Given the description of an element on the screen output the (x, y) to click on. 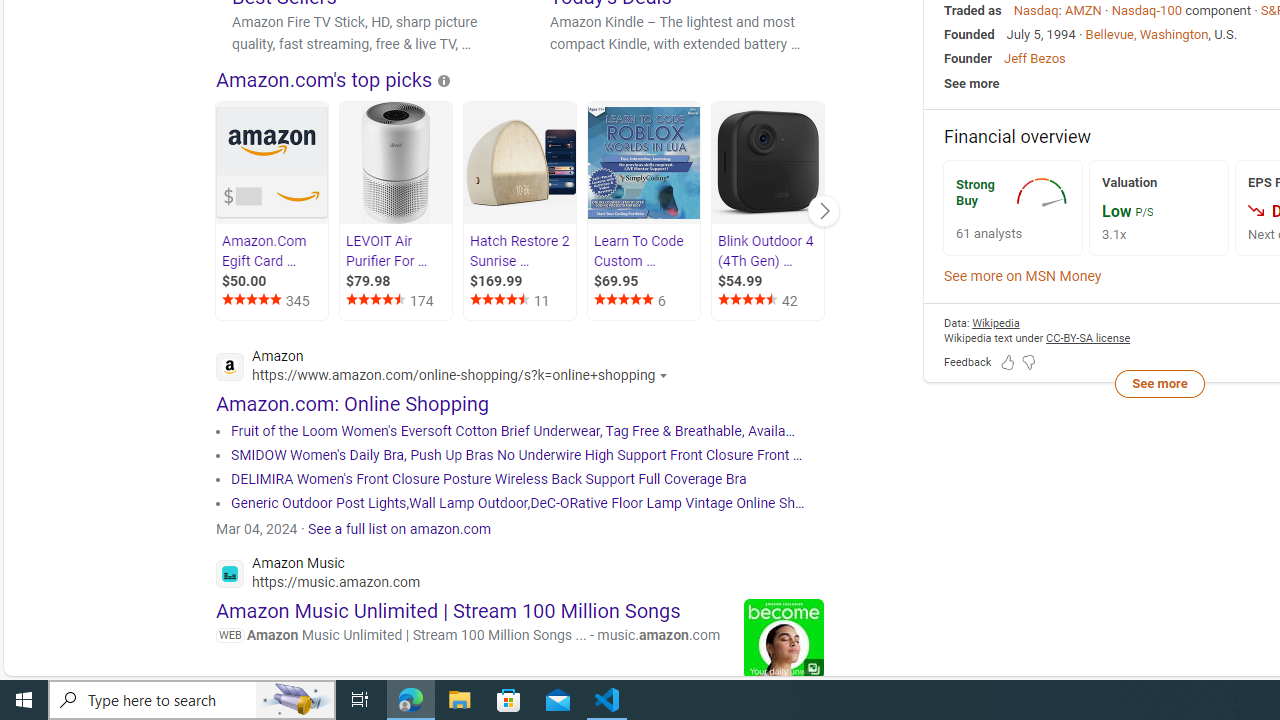
Valuation Low P/S 3.1x (1158, 207)
174 (397, 300)
Jeff Bezos (1034, 58)
Feedback Dislike (1028, 362)
$50.00 (273, 281)
$79.98 (397, 281)
$54.99 (769, 281)
About our relevant products (443, 80)
Amazon Music (318, 574)
Founder (968, 58)
Star Rating: 4.5 out of 5. (750, 302)
Feedback Like (1007, 362)
